Given the description of an element on the screen output the (x, y) to click on. 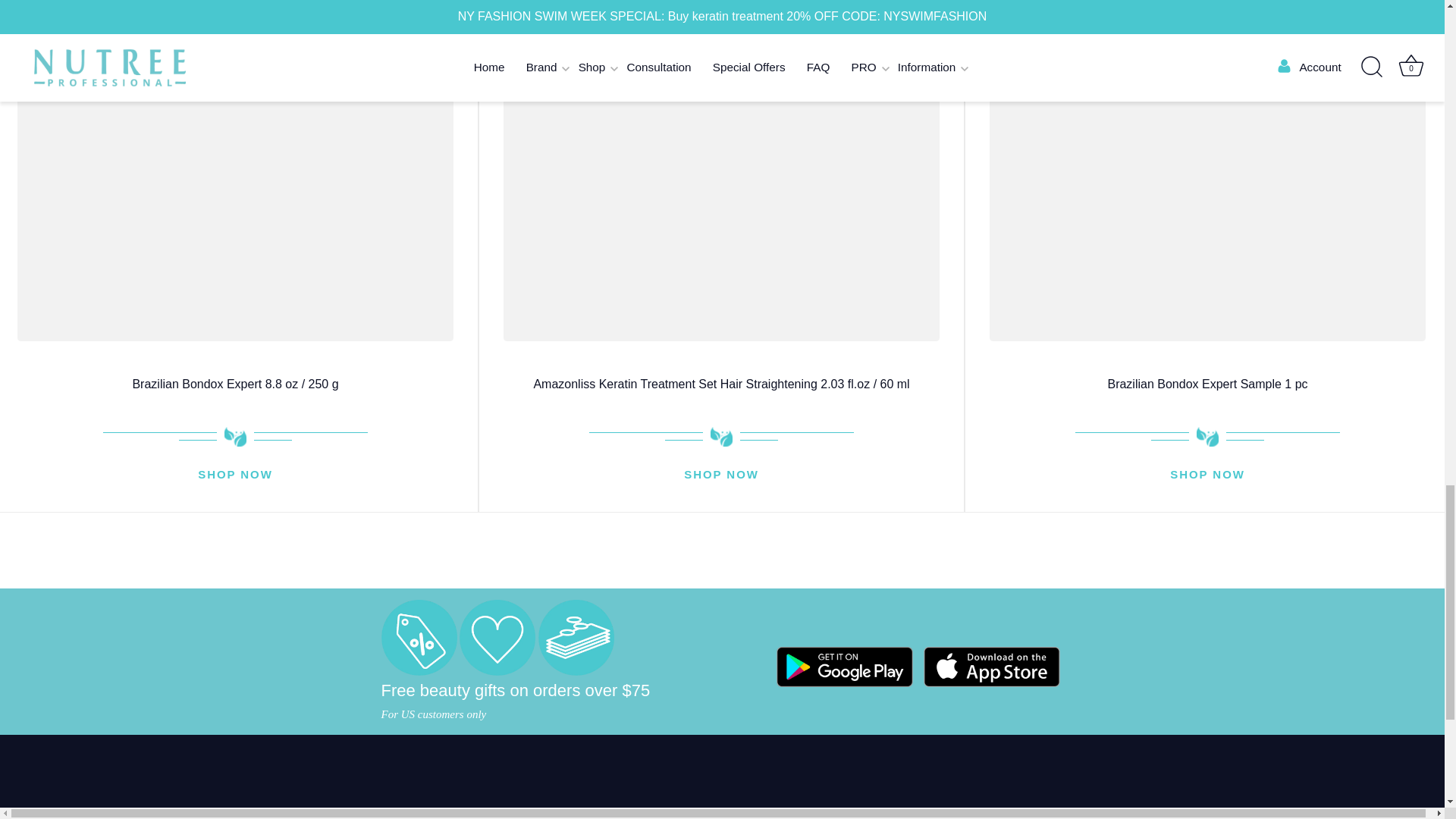
Shop Now (234, 475)
Shop Now (1207, 475)
Shop Now (721, 475)
